Given the description of an element on the screen output the (x, y) to click on. 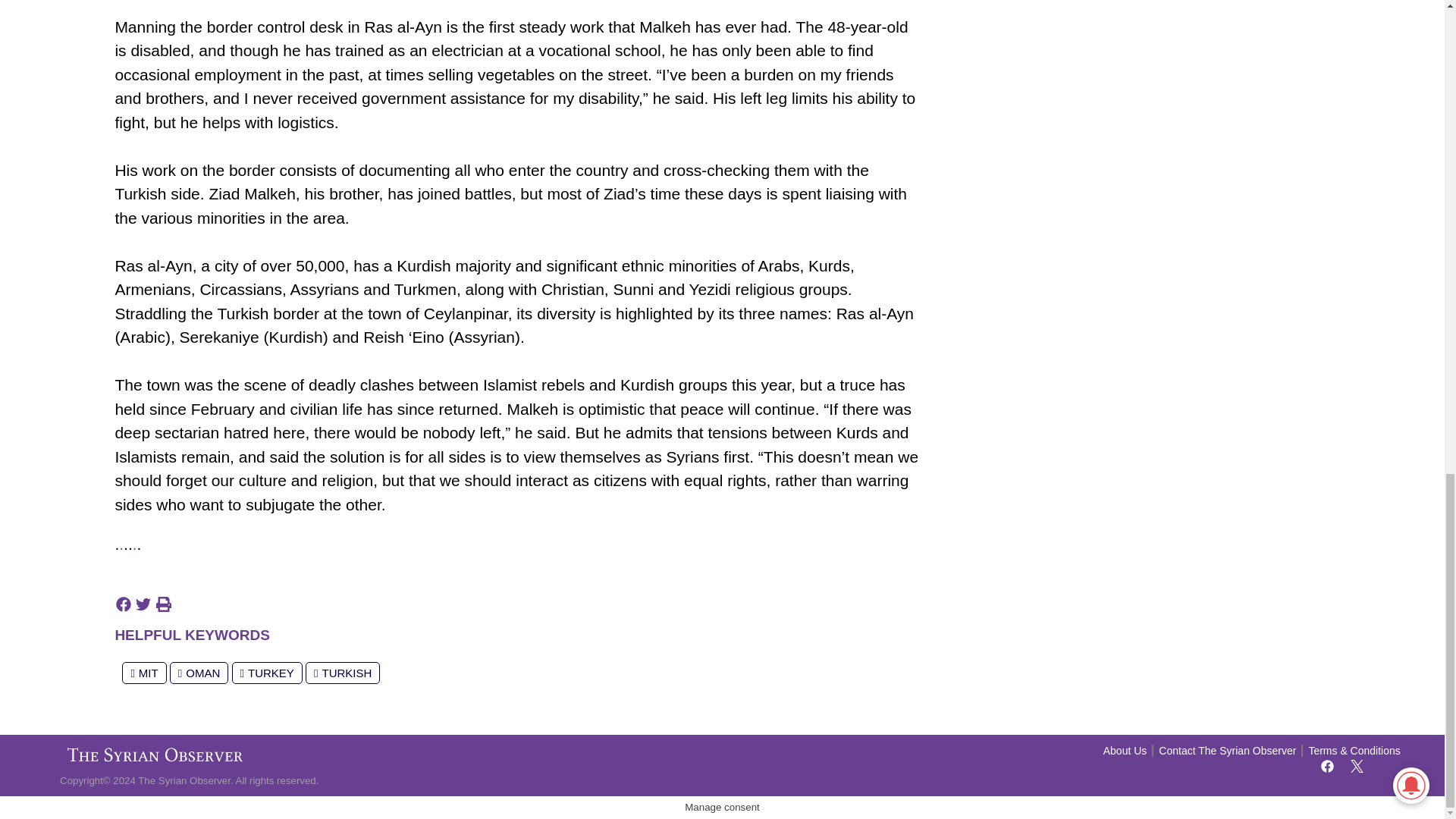
Contact The Syrian Observer (1227, 750)
TURKISH (342, 672)
OMAN (199, 672)
MIT (143, 672)
About Us (1125, 750)
TURKEY (266, 672)
